Given the description of an element on the screen output the (x, y) to click on. 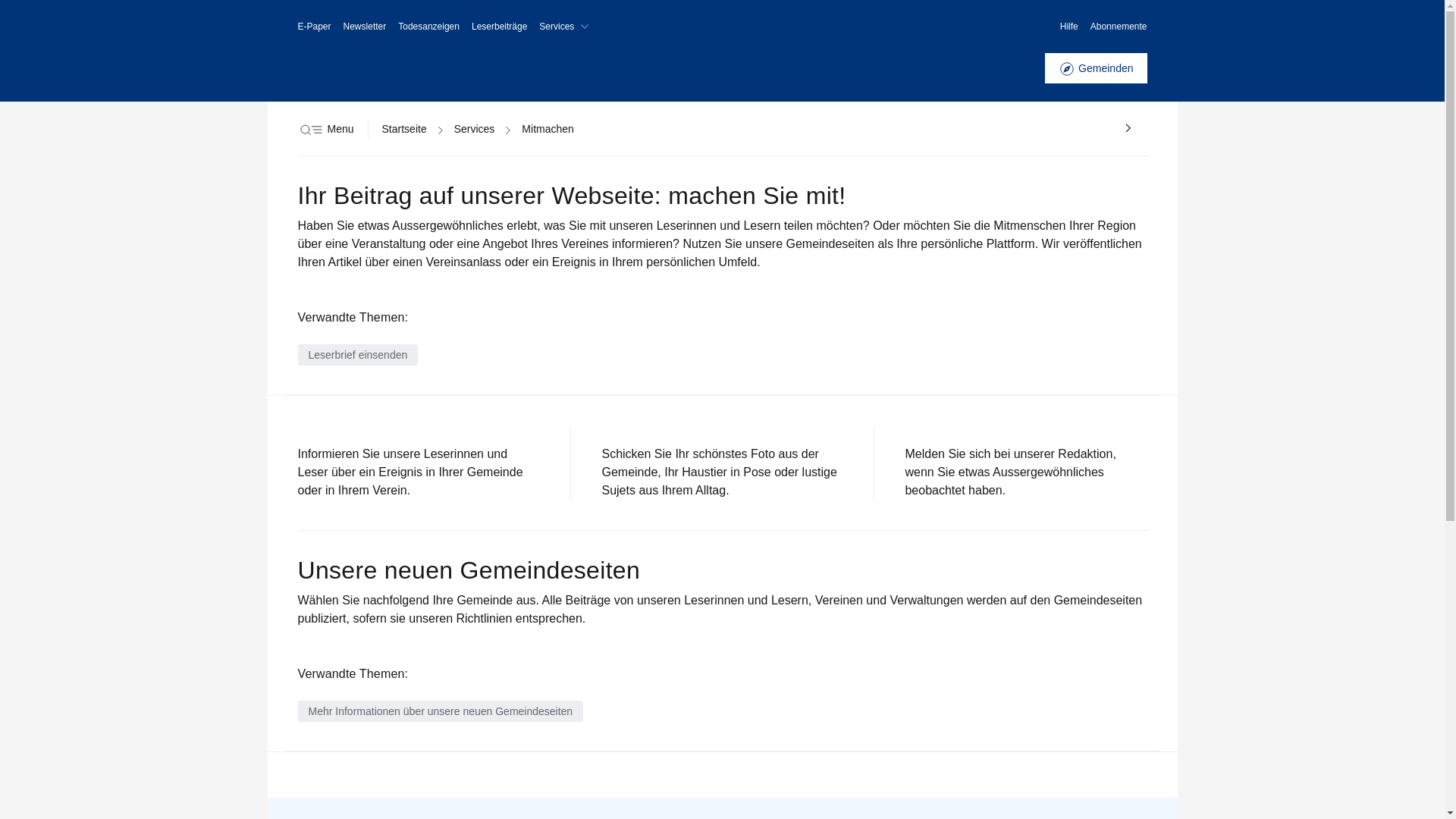
Leserbrief einsenden Element type: text (357, 354)
Abonnemente Element type: text (1118, 26)
Startseite Element type: text (404, 128)
Services Element type: text (567, 26)
Todesanzeigen Element type: text (428, 26)
E-Paper Element type: text (313, 26)
Hilfe Element type: text (1069, 26)
Menu Element type: text (325, 128)
Gemeinden Element type: text (1095, 68)
Services Element type: text (474, 128)
Newsletter Element type: text (364, 26)
